Given the description of an element on the screen output the (x, y) to click on. 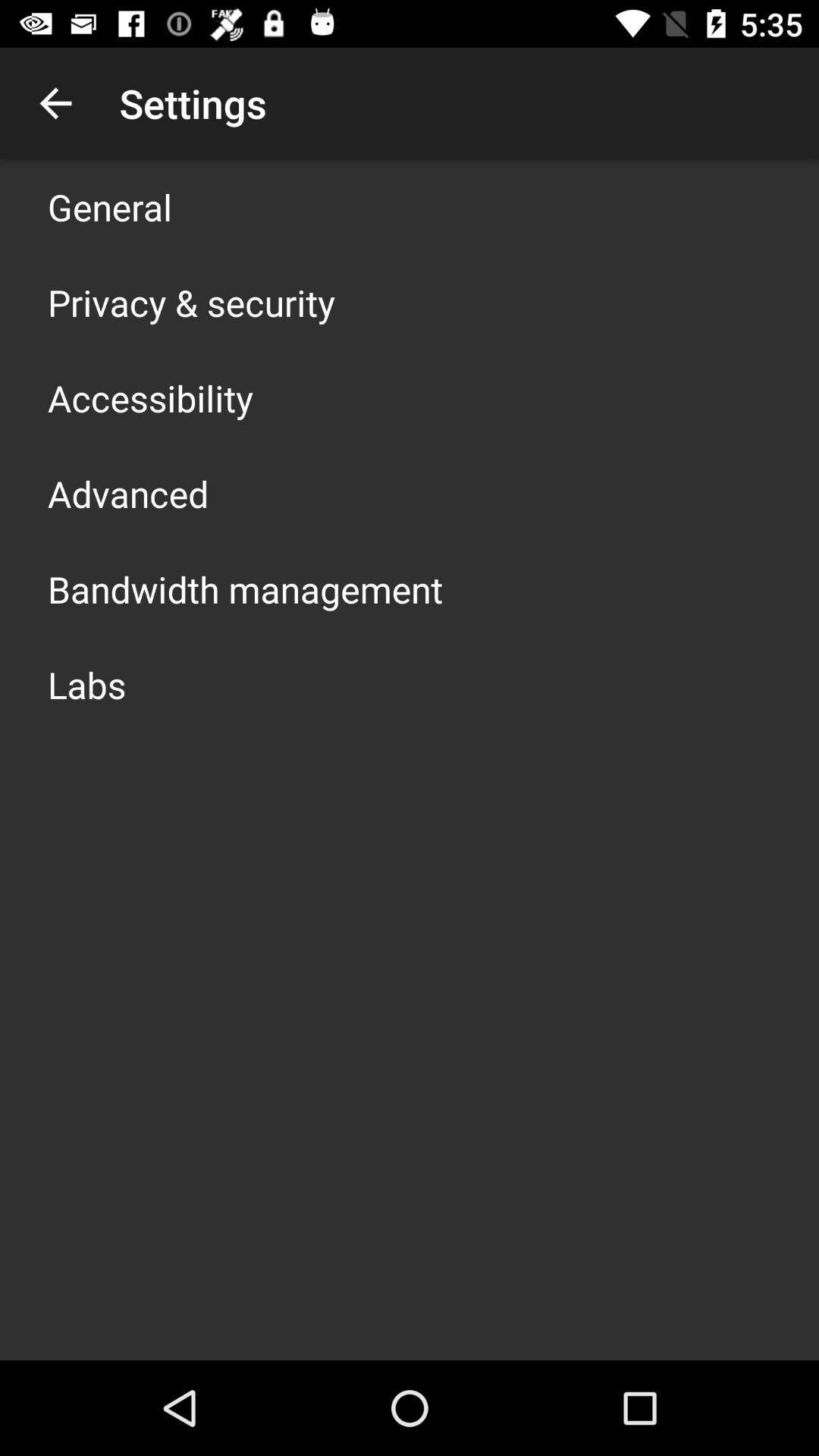
flip until privacy & security app (190, 302)
